Given the description of an element on the screen output the (x, y) to click on. 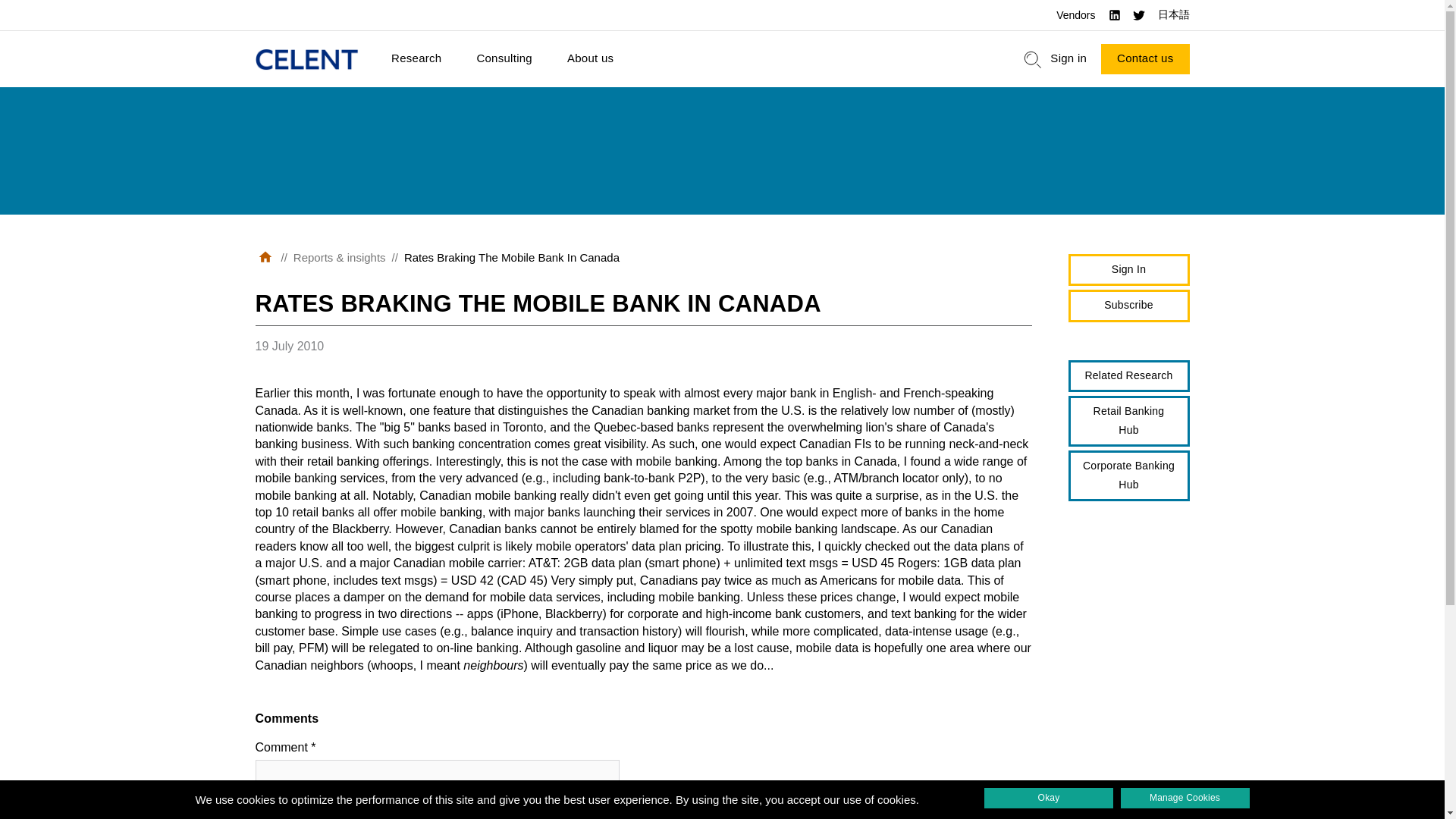
Home (306, 59)
Manage Cookies (1185, 797)
About us (590, 59)
Vendors (1075, 15)
Contact us (1144, 59)
Okay (1048, 797)
search (1032, 58)
Consulting (503, 59)
Research (415, 59)
Sign in (1068, 59)
